Given the description of an element on the screen output the (x, y) to click on. 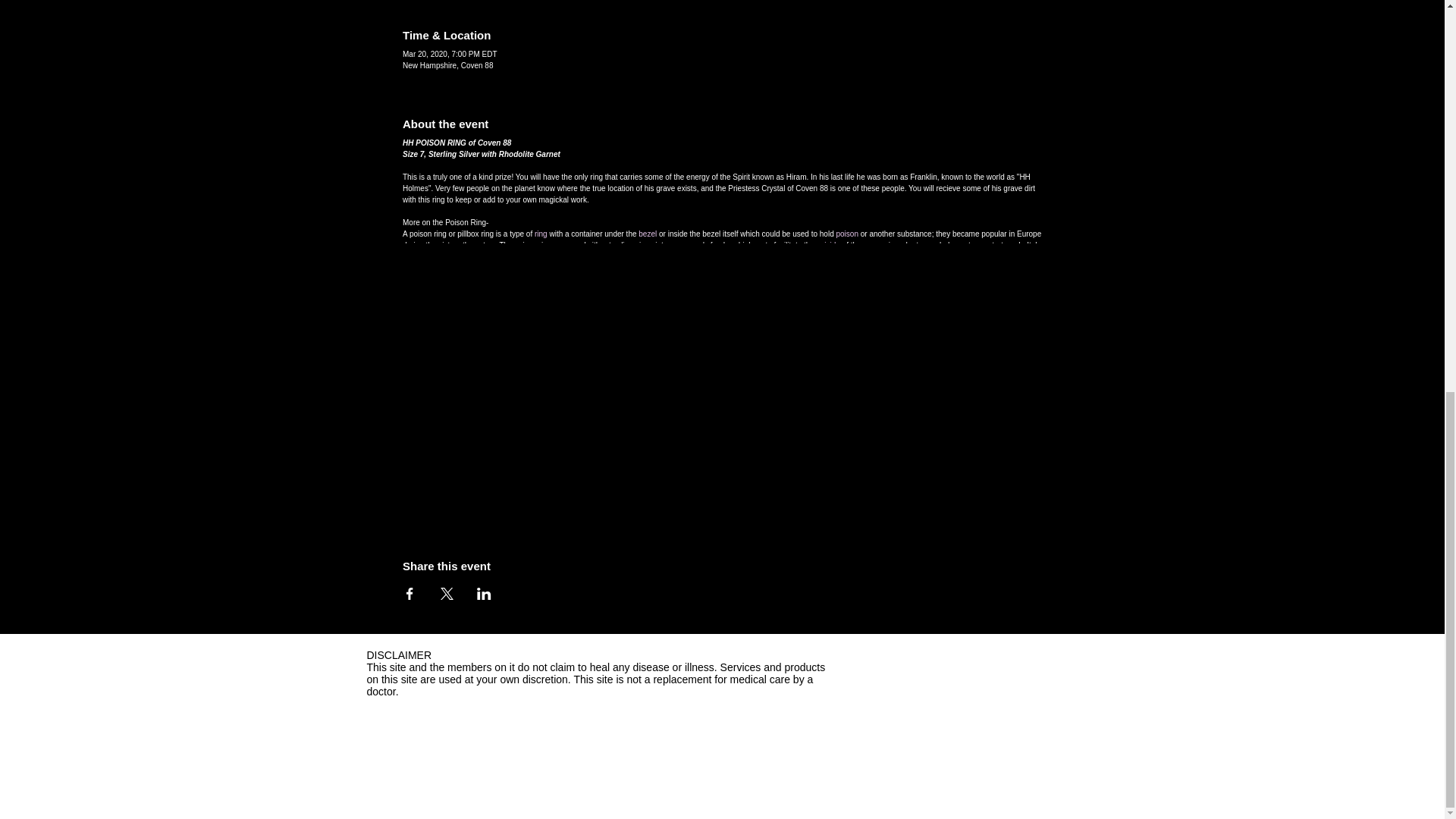
bezel (647, 234)
ring (540, 234)
suicide (828, 244)
poison (846, 234)
